Given the description of an element on the screen output the (x, y) to click on. 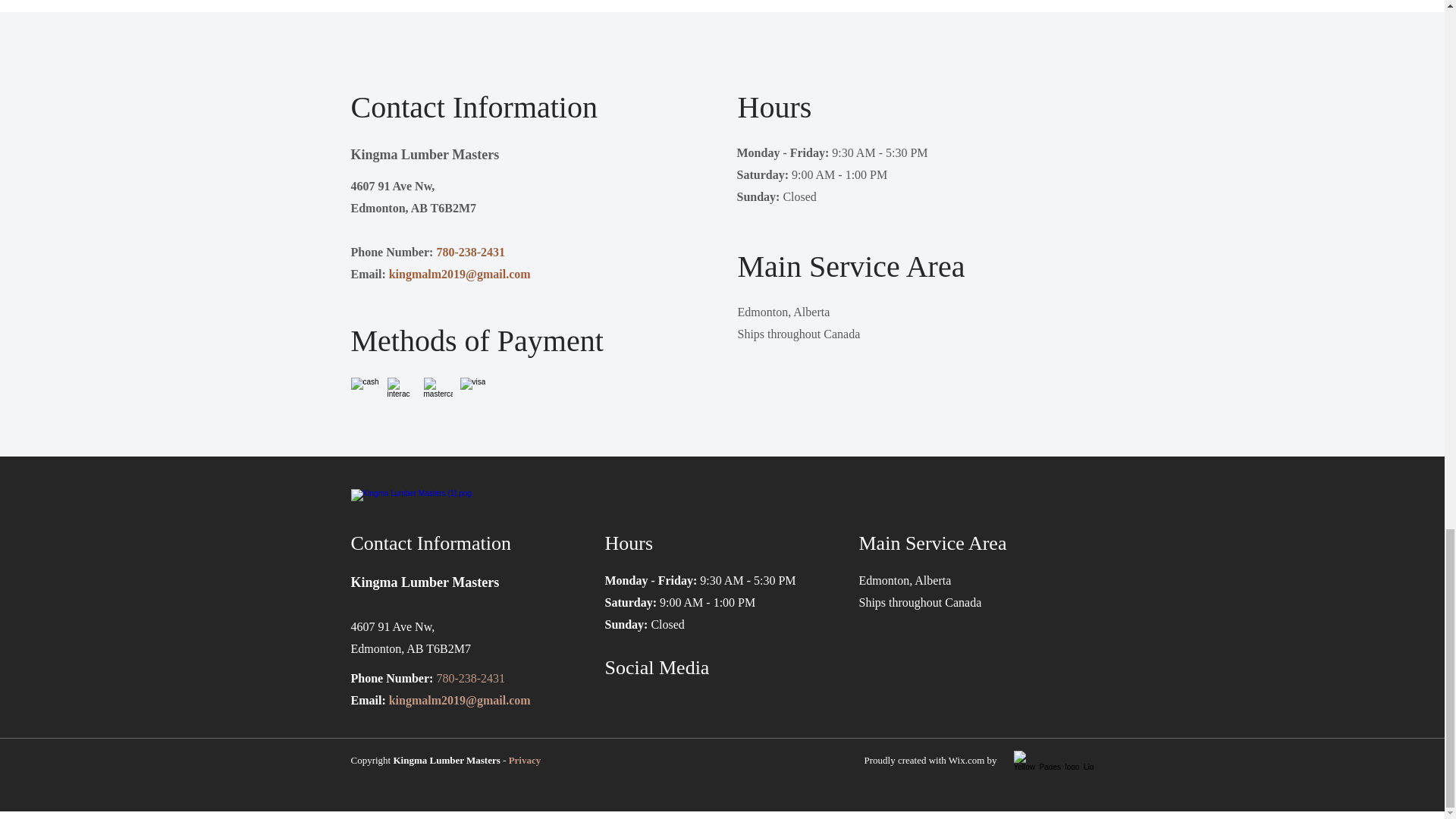
Privacy (524, 759)
780-238-2431 (470, 677)
780-238-2431 (470, 251)
